Given the description of an element on the screen output the (x, y) to click on. 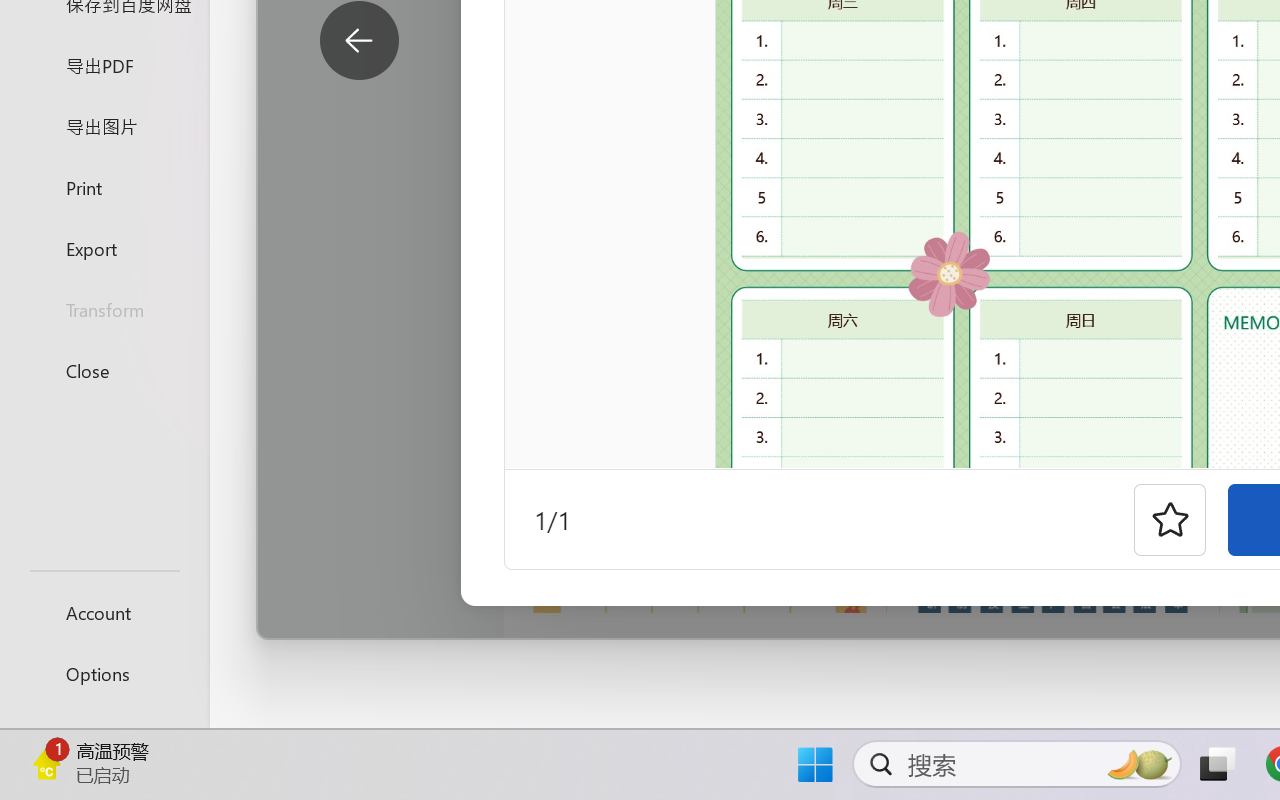
Options (104, 673)
Print (104, 186)
Export (104, 248)
Transform (104, 309)
Account (104, 612)
